Given the description of an element on the screen output the (x, y) to click on. 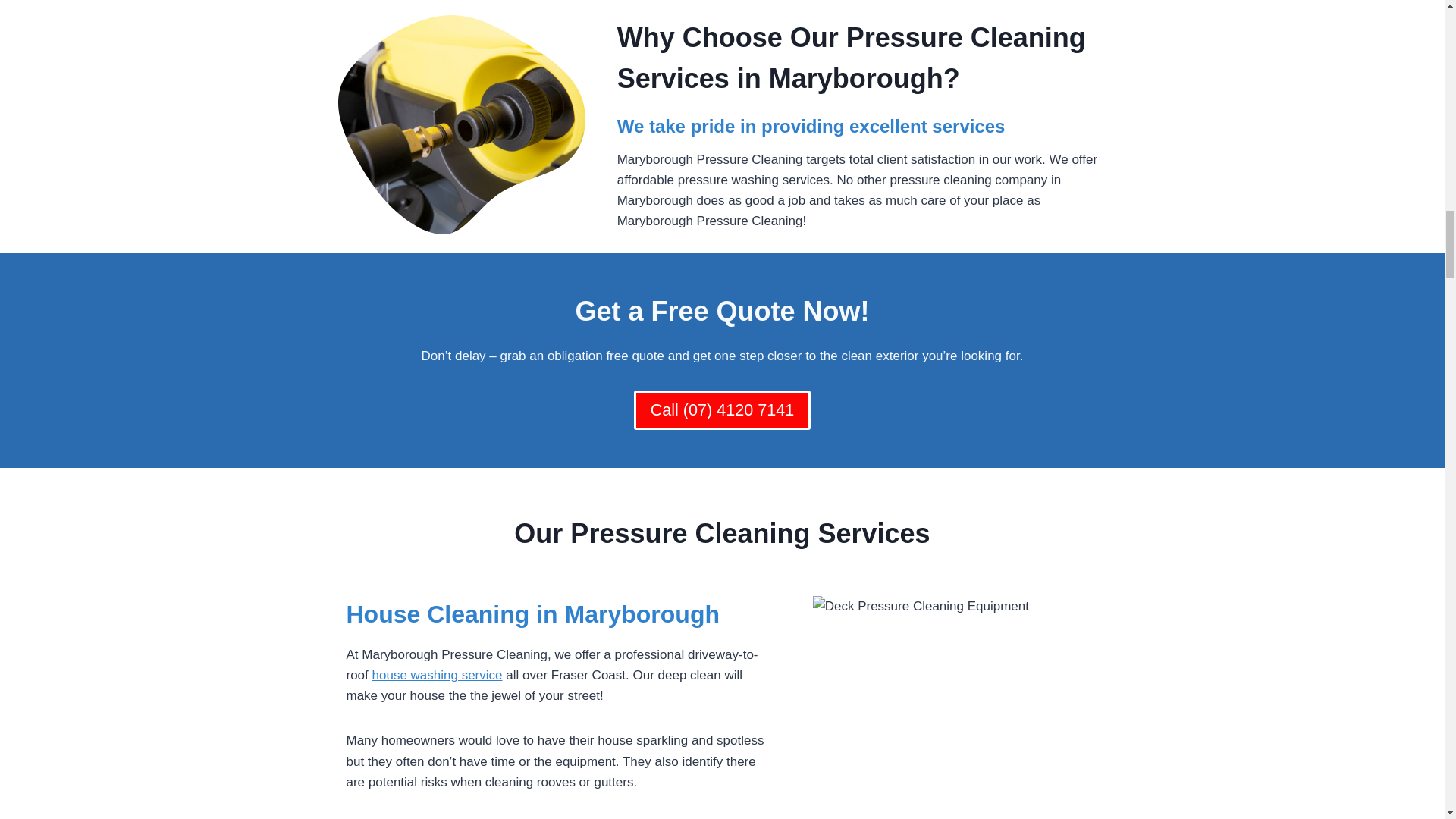
house washing service (437, 675)
